Given the description of an element on the screen output the (x, y) to click on. 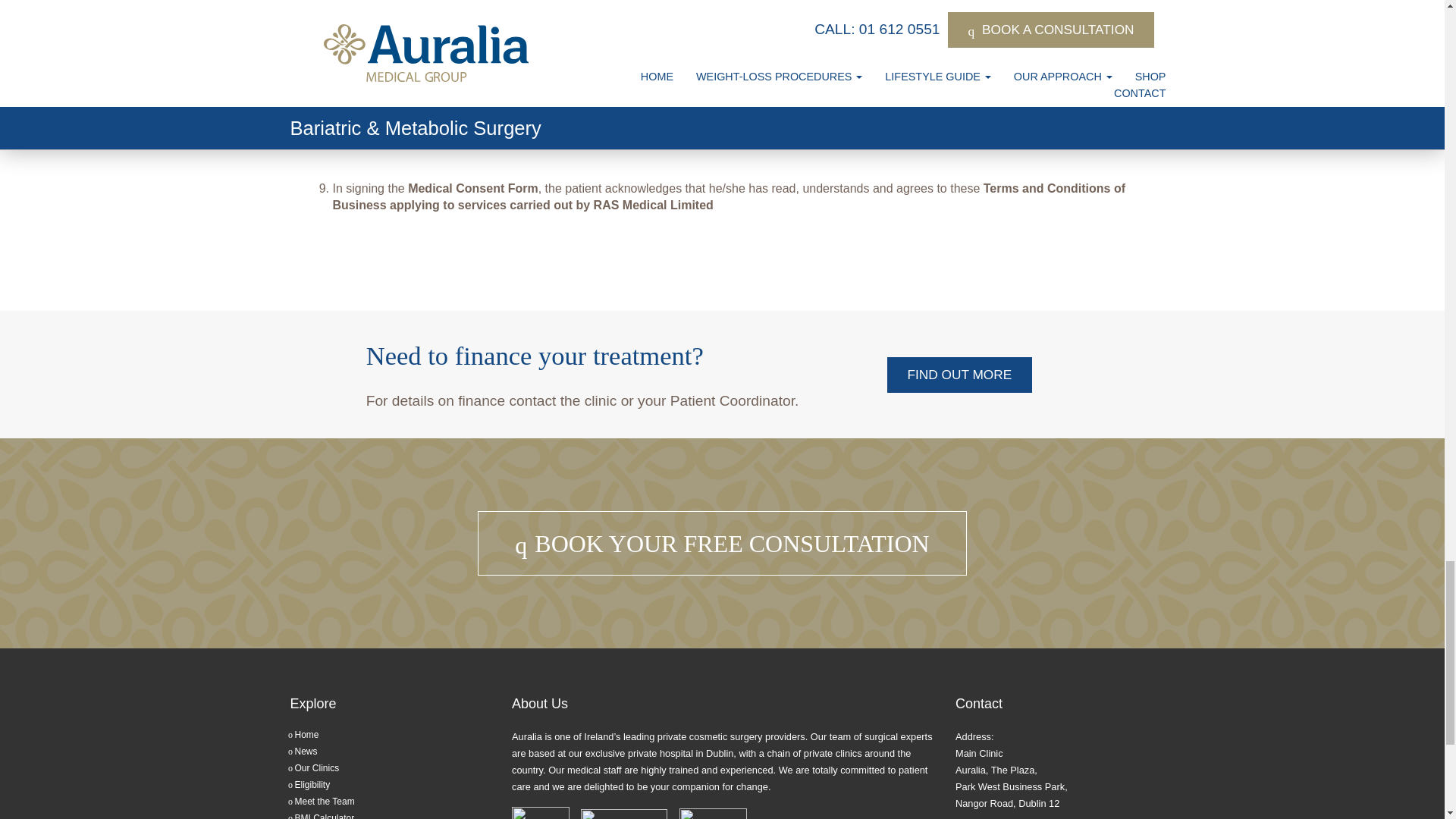
Meet the Team (323, 801)
Home (306, 734)
BOOK YOUR FREE CONSULTATION (721, 543)
Our Clinics (316, 767)
FIND OUT MORE (959, 375)
BMI Calculator (323, 816)
Eligibility (312, 784)
News (305, 751)
